Given the description of an element on the screen output the (x, y) to click on. 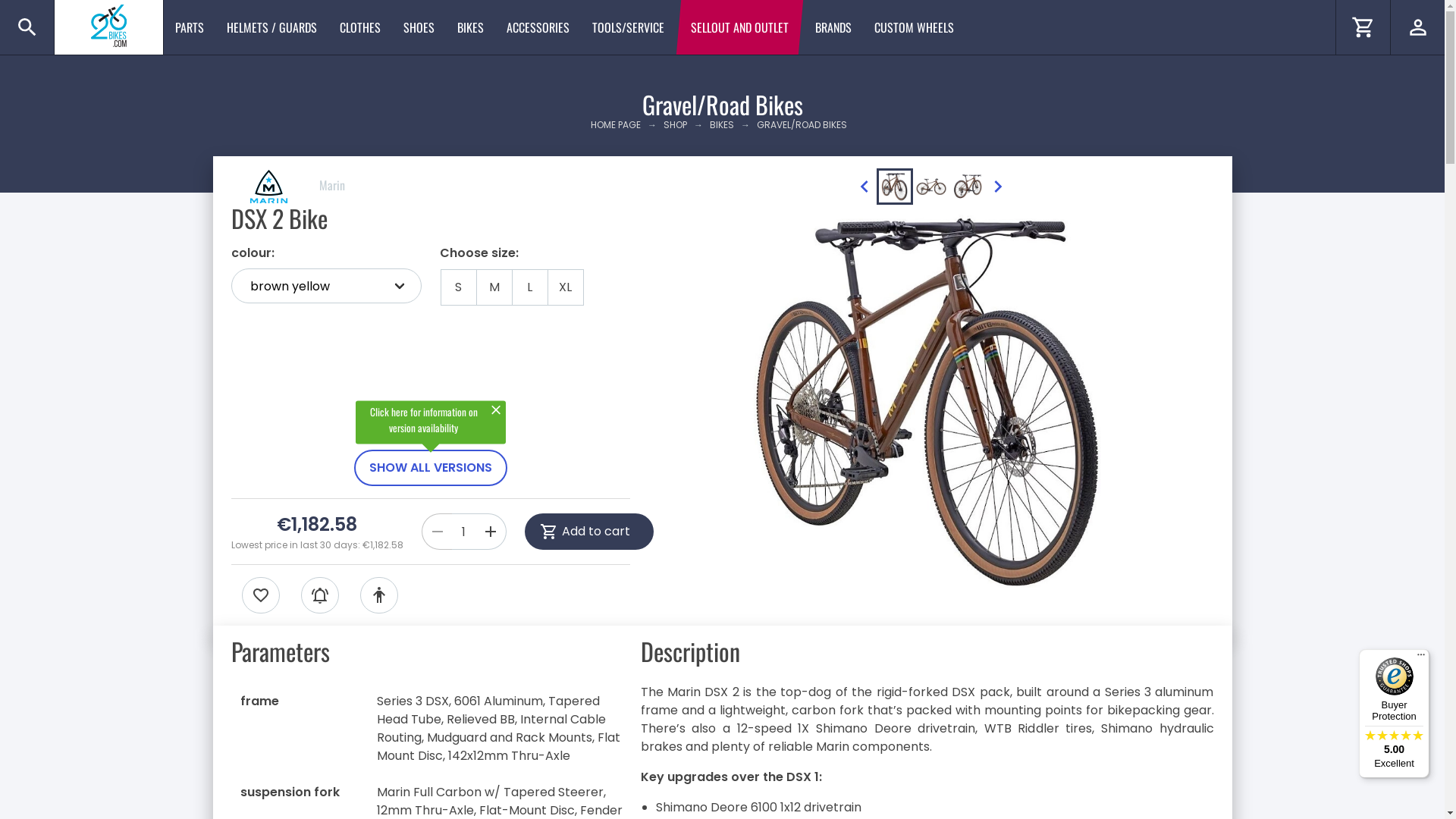
PARTS Element type: text (189, 27)
BIKES Element type: text (470, 27)
Cart Element type: hover (1362, 27)
Marin Element type: text (287, 184)
HOME PAGE Element type: text (618, 124)
Account menu Element type: hover (1417, 27)
TOOLS/SERVICE Element type: text (627, 27)
BRANDS Element type: text (832, 27)
Add to cart Element type: text (588, 531)
SELLOUT AND OUTLET Element type: text (739, 27)
CUSTOM WHEELS Element type: text (913, 27)
M Element type: text (494, 287)
HELMETS / GUARDS Element type: text (271, 27)
L Element type: text (529, 287)
SHOES Element type: text (418, 27)
BIKES Element type: text (721, 124)
GRAVEL/ROAD BIKES Element type: text (801, 124)
S Element type: text (457, 287)
XL Element type: text (565, 287)
SHOP Element type: text (674, 124)
ACCESSORIES Element type: text (537, 27)
Search Element type: hover (27, 27)
CLOTHES Element type: text (360, 27)
